Given the description of an element on the screen output the (x, y) to click on. 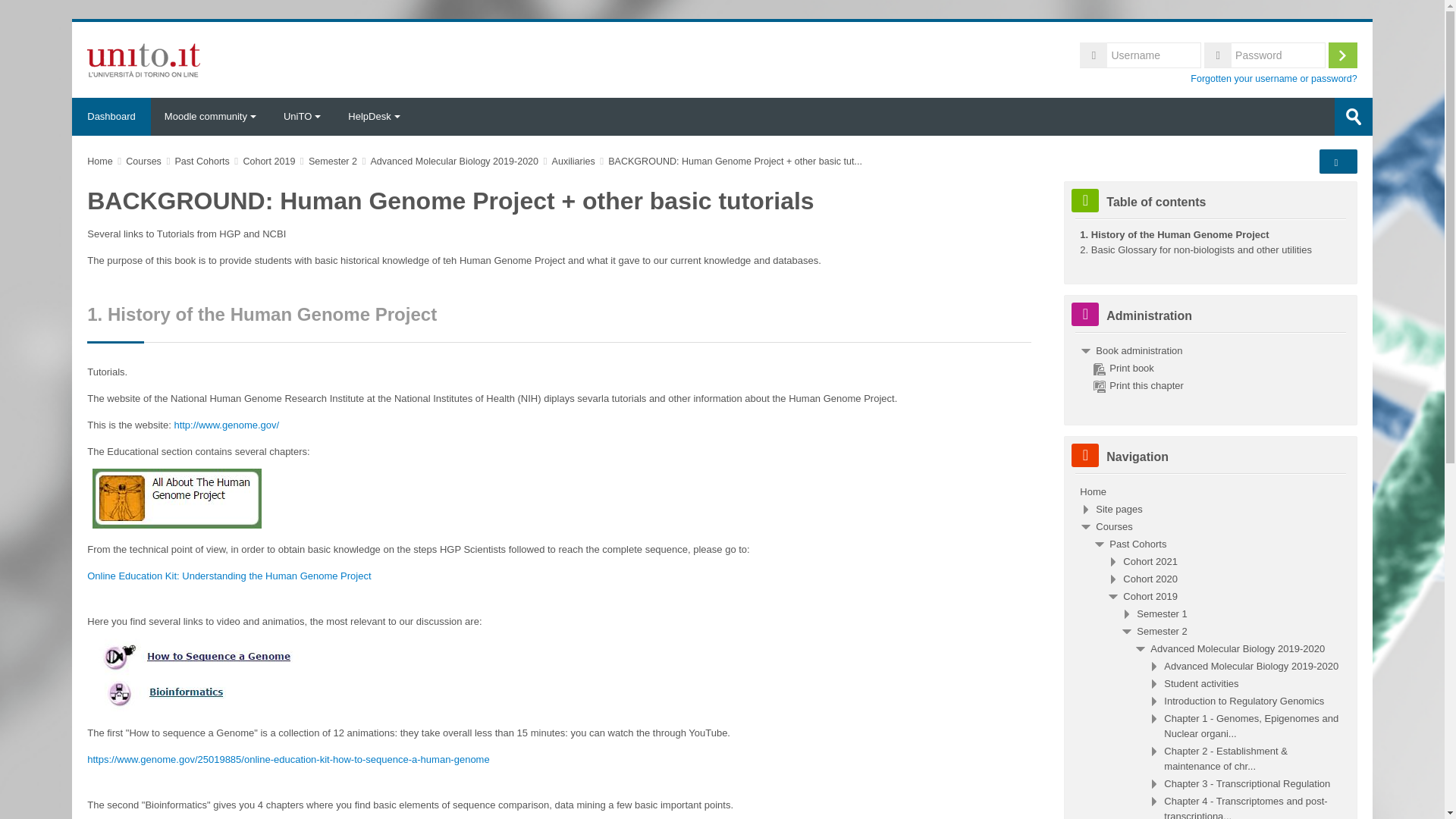
Basic Glossary for non-biologists and other utilities (1195, 249)
Forgotten your username or password? (1273, 78)
HelpDesk (373, 116)
Search courses (1354, 116)
Actions menu (1336, 162)
Submit (1354, 116)
Home (143, 58)
Advanced Molecular Biology 2019-2020 (1237, 648)
Advanced Molecular Biology 2019-2020 (454, 161)
Auxiliaries (573, 161)
Online Education Kit: Understanding the Human Genome Project (229, 575)
Cell Molecular Biology (1118, 509)
Cohort 2019 (269, 161)
Log in (1341, 54)
Past Cohorts (201, 161)
